Given the description of an element on the screen output the (x, y) to click on. 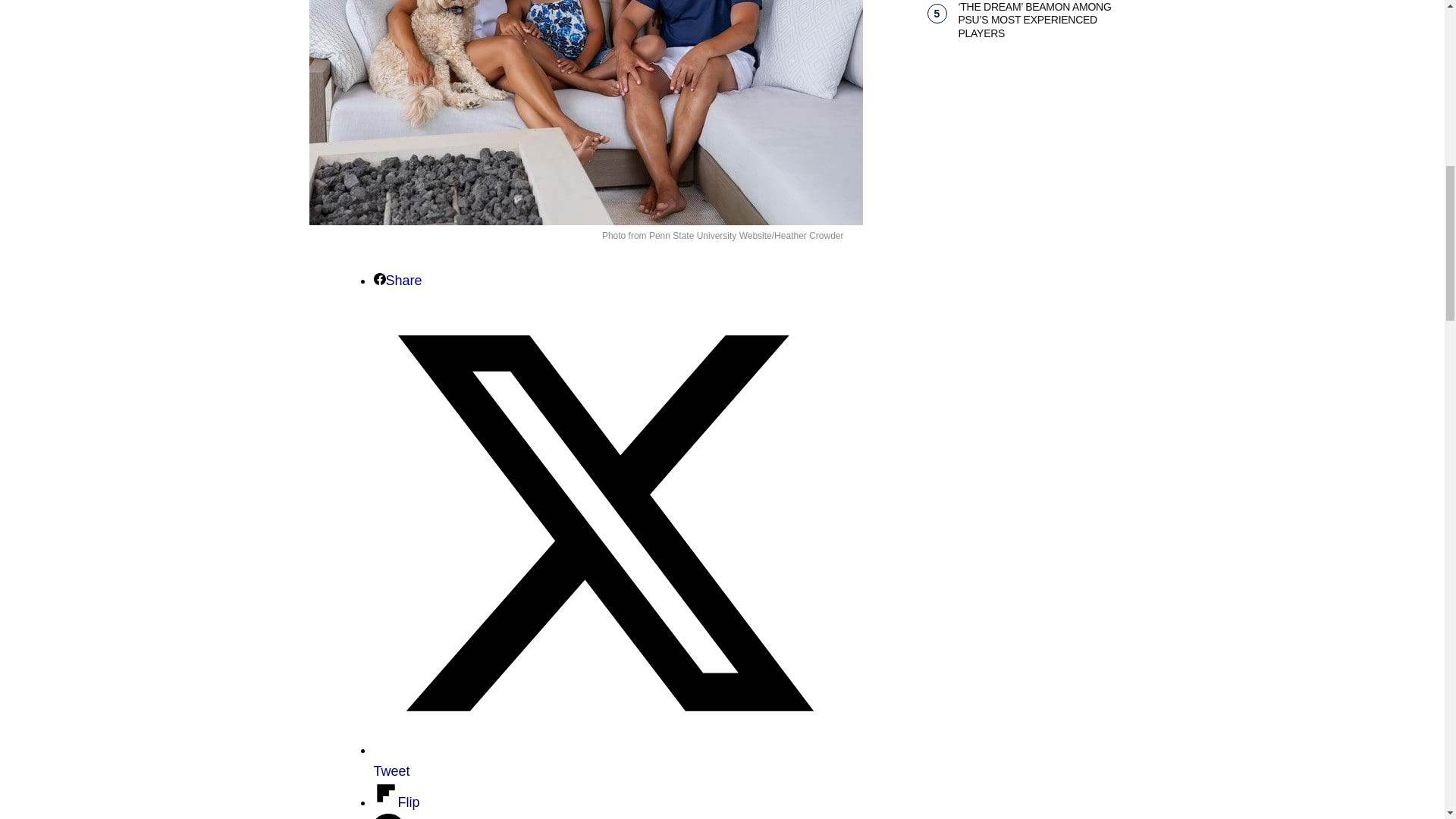
Share on Tweet (603, 760)
Share on Flip (395, 801)
Share on Share (397, 280)
